Given the description of an element on the screen output the (x, y) to click on. 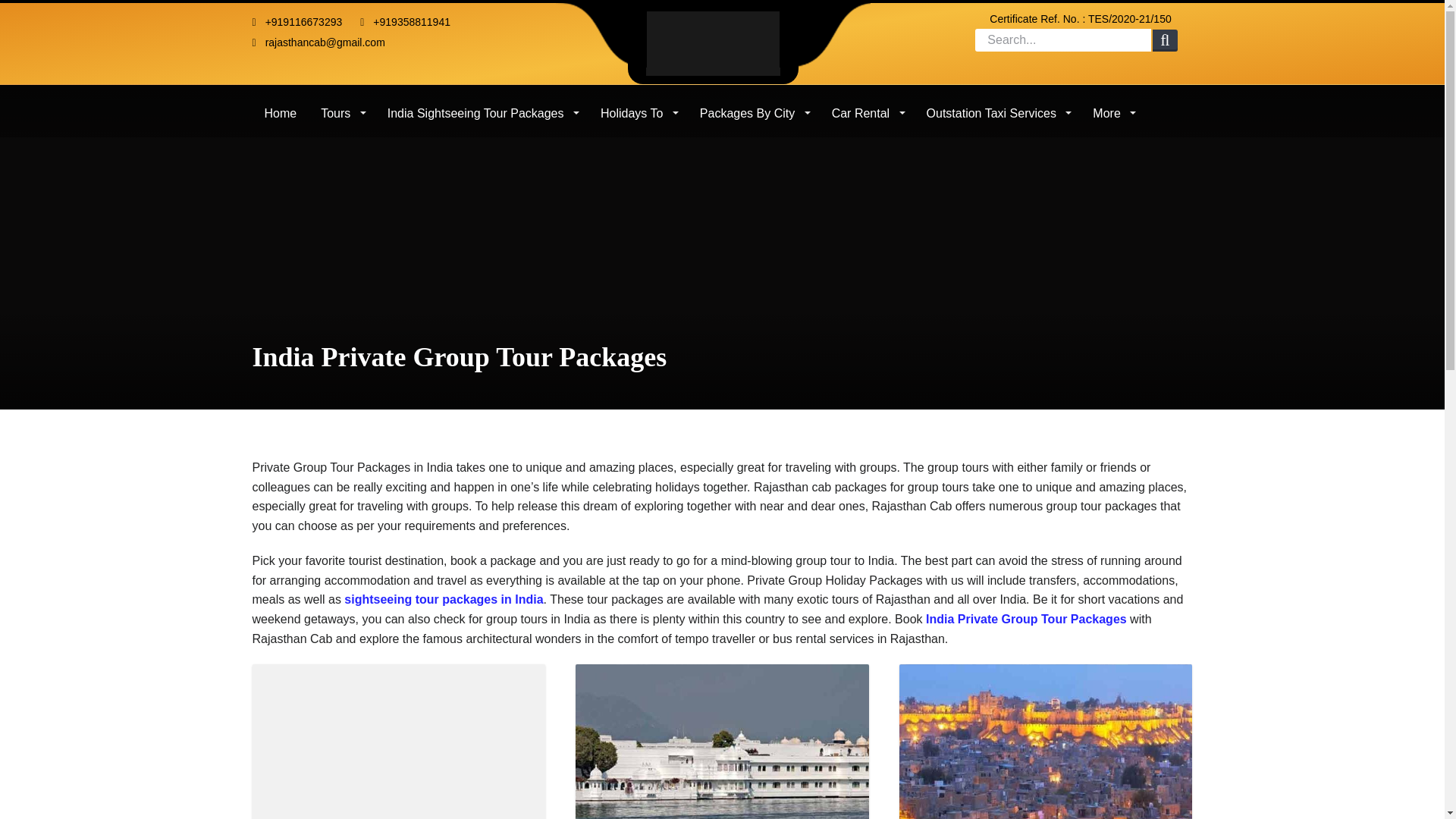
Search (1164, 40)
Tours (341, 108)
India Sightseeing Tour Packages (481, 108)
Home (279, 108)
Holidays To (637, 108)
Search for: (1063, 39)
